Given the description of an element on the screen output the (x, y) to click on. 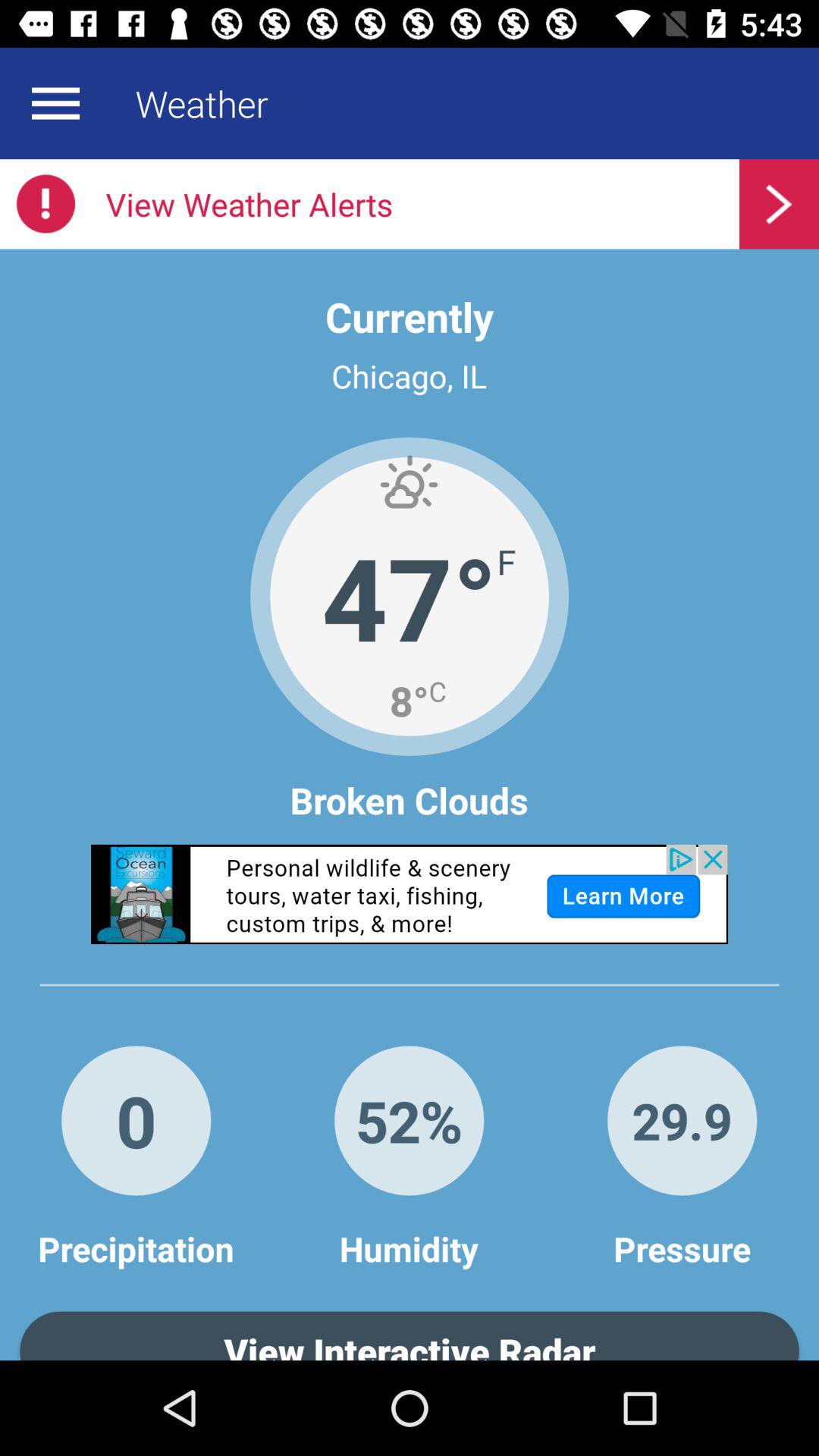
go to more options (55, 103)
